Given the description of an element on the screen output the (x, y) to click on. 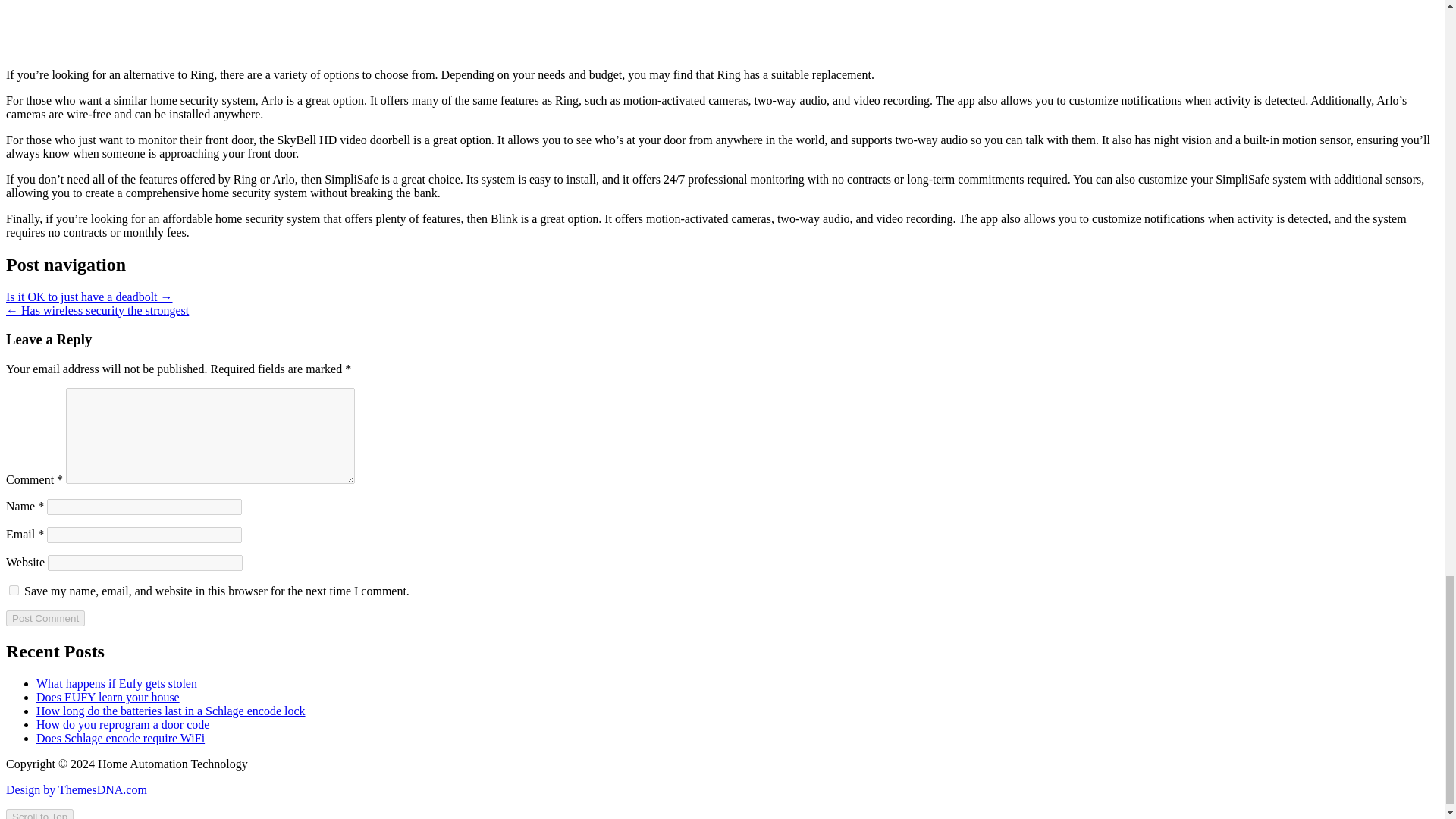
How do you reprogram a door code (122, 724)
yes (13, 590)
What happens if Eufy gets stolen (116, 683)
Post Comment (44, 618)
Design by ThemesDNA.com (76, 789)
Does EUFY learn your house (107, 697)
Post Comment (44, 618)
How long do the batteries last in a Schlage encode lock (170, 710)
Does Schlage encode require WiFi (120, 738)
